Given the description of an element on the screen output the (x, y) to click on. 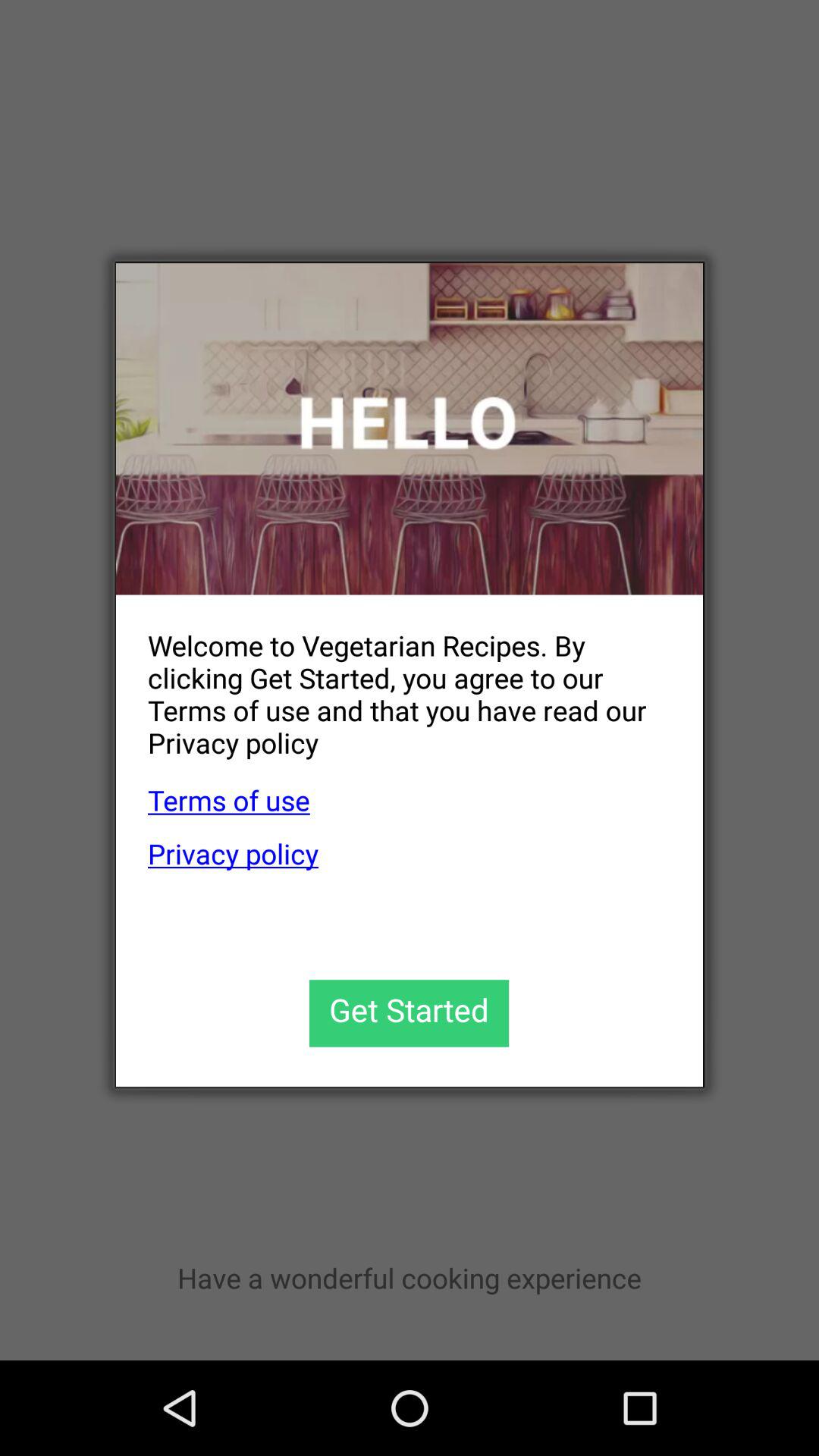
launch welcome to vegetarian icon (393, 681)
